Given the description of an element on the screen output the (x, y) to click on. 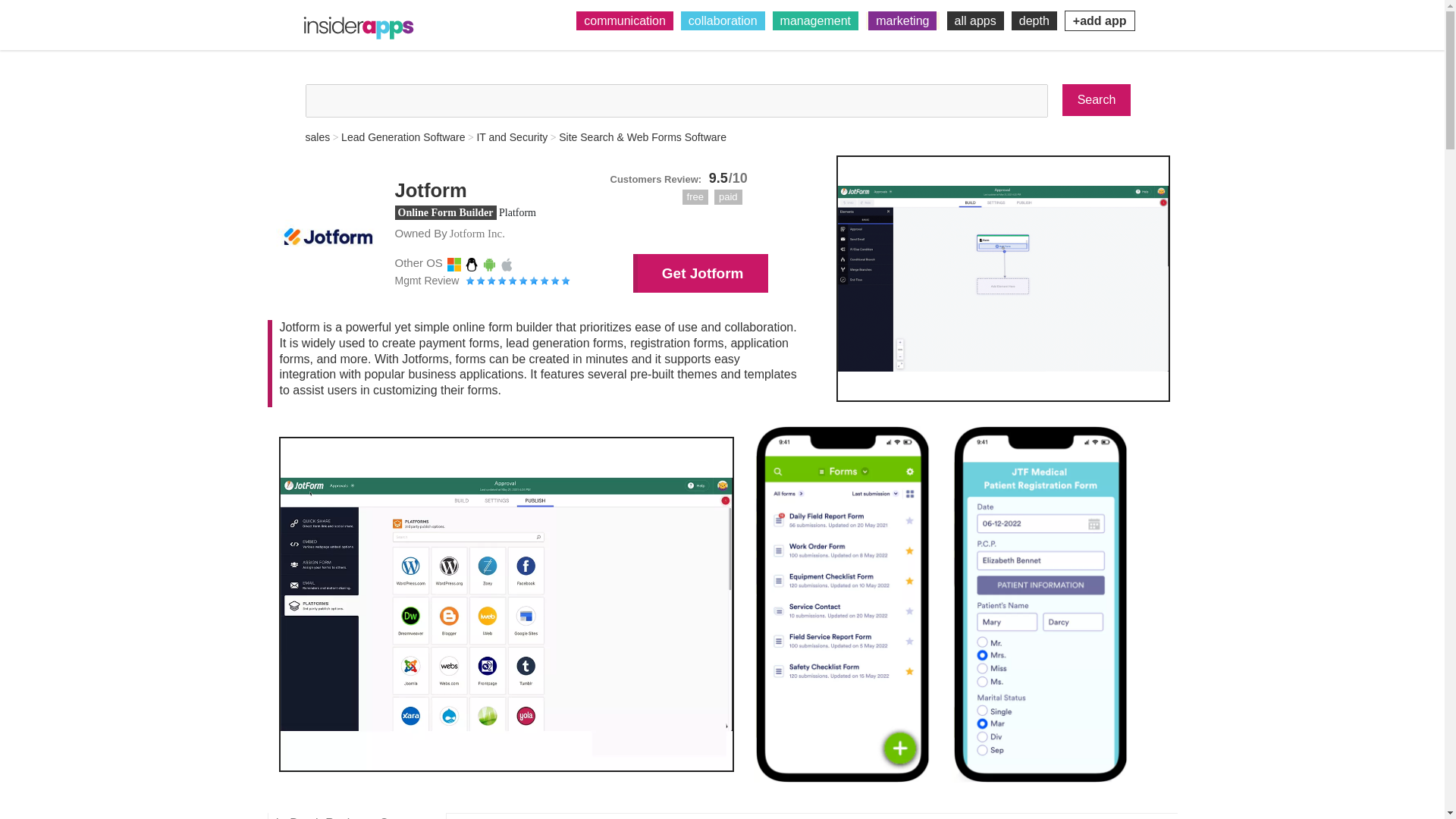
depth (1034, 20)
Search (1096, 100)
Android (489, 264)
Jotform App Functionality (1002, 278)
collaboration (723, 20)
management (816, 20)
all apps (975, 20)
IT and Security (511, 137)
sales (317, 137)
Search (1096, 100)
Get Jotform (700, 272)
communication (624, 20)
Lead Generation Software (402, 137)
Apple (506, 264)
Windows (453, 264)
